Given the description of an element on the screen output the (x, y) to click on. 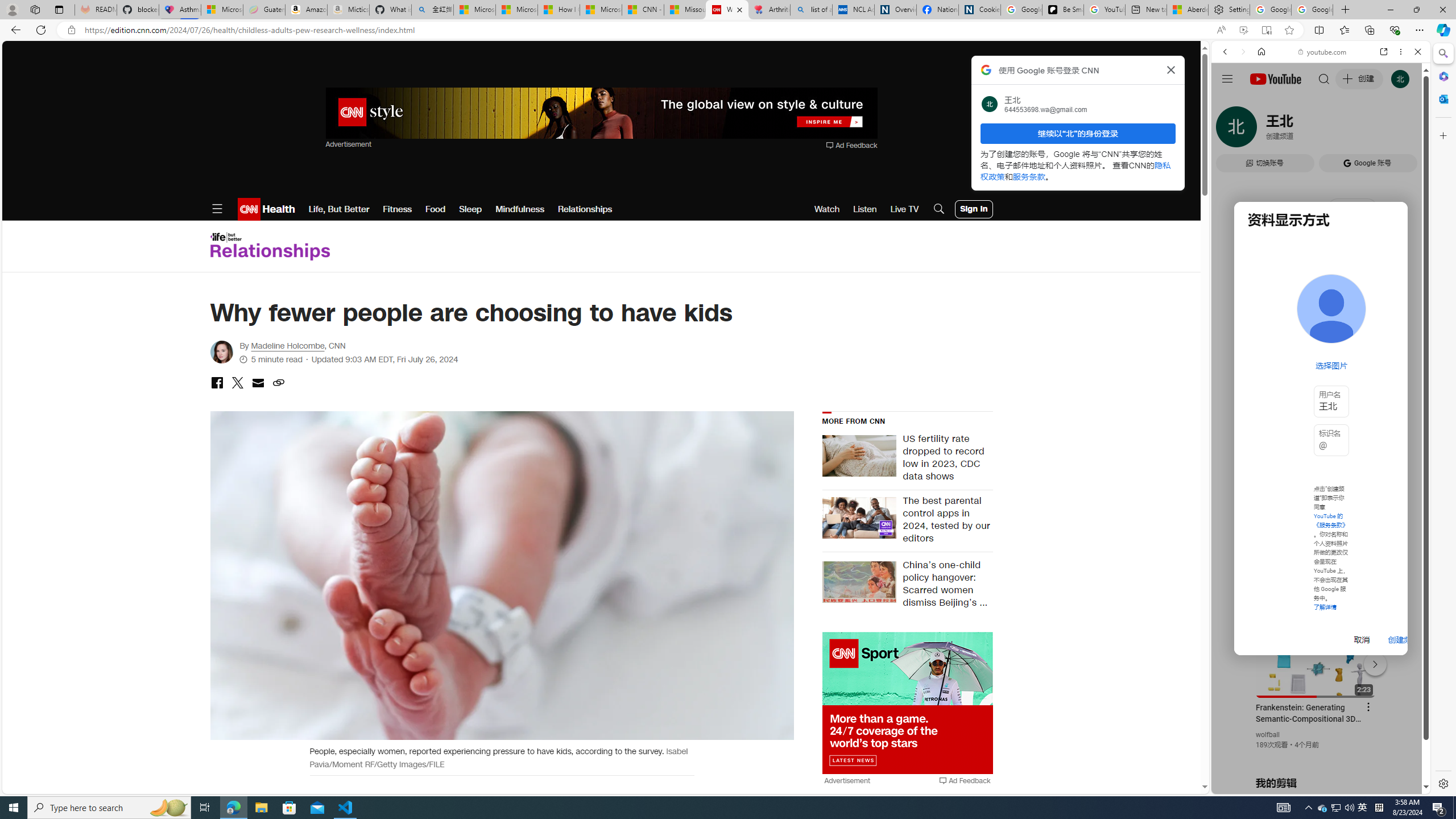
Class: icon-ui-link (277, 382)
YouTube - YouTube (1315, 560)
Class: icon-social-facebook (216, 382)
